Given the description of an element on the screen output the (x, y) to click on. 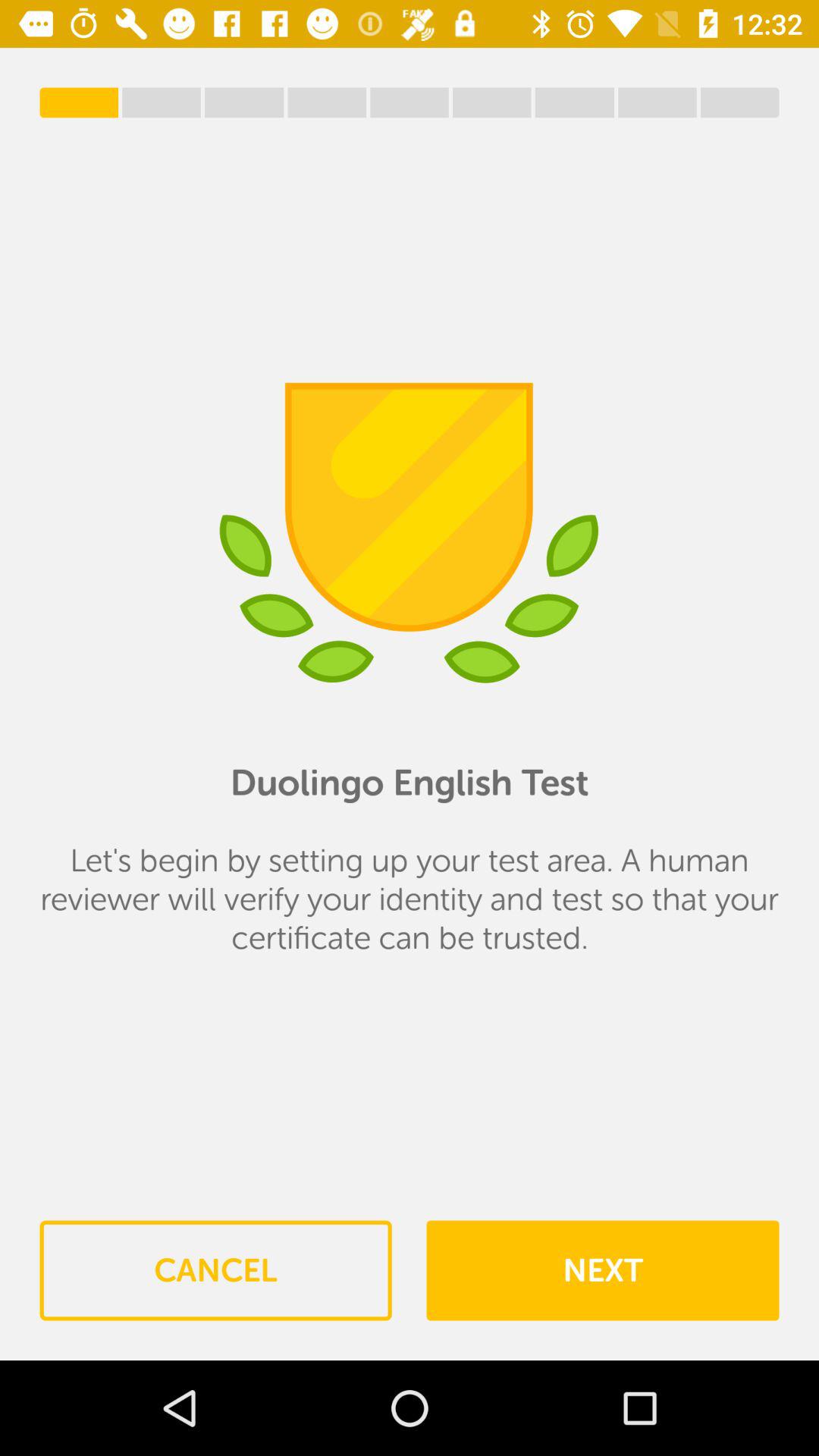
click the item next to the cancel icon (602, 1270)
